Given the description of an element on the screen output the (x, y) to click on. 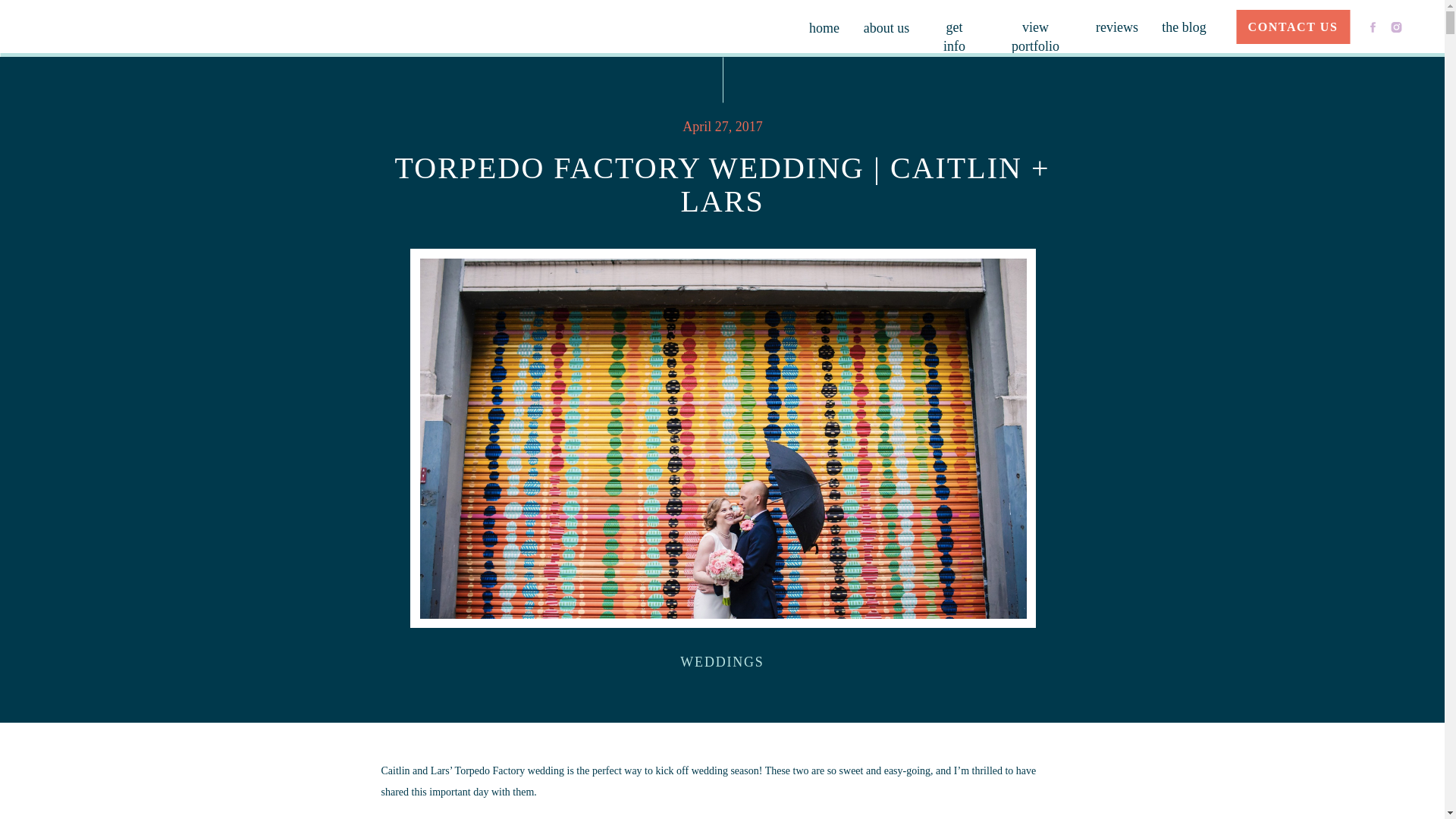
home (823, 24)
reviews (1117, 24)
CONTACT US (1292, 27)
the blog (1184, 24)
get info (954, 24)
about us (886, 24)
WEDDINGS (720, 661)
view portfolio (1035, 24)
